Given the description of an element on the screen output the (x, y) to click on. 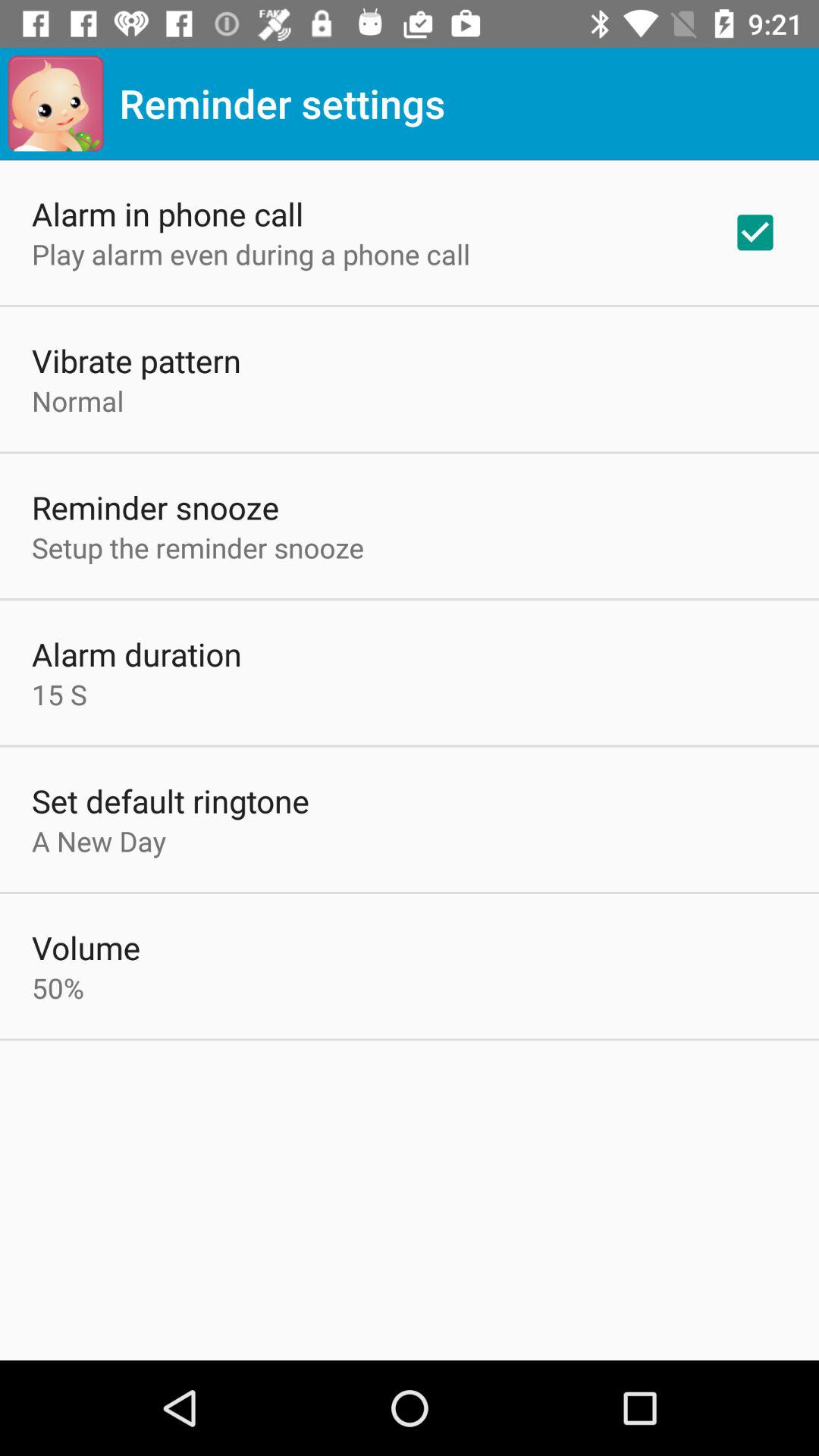
open icon above the alarm duration item (197, 547)
